Given the description of an element on the screen output the (x, y) to click on. 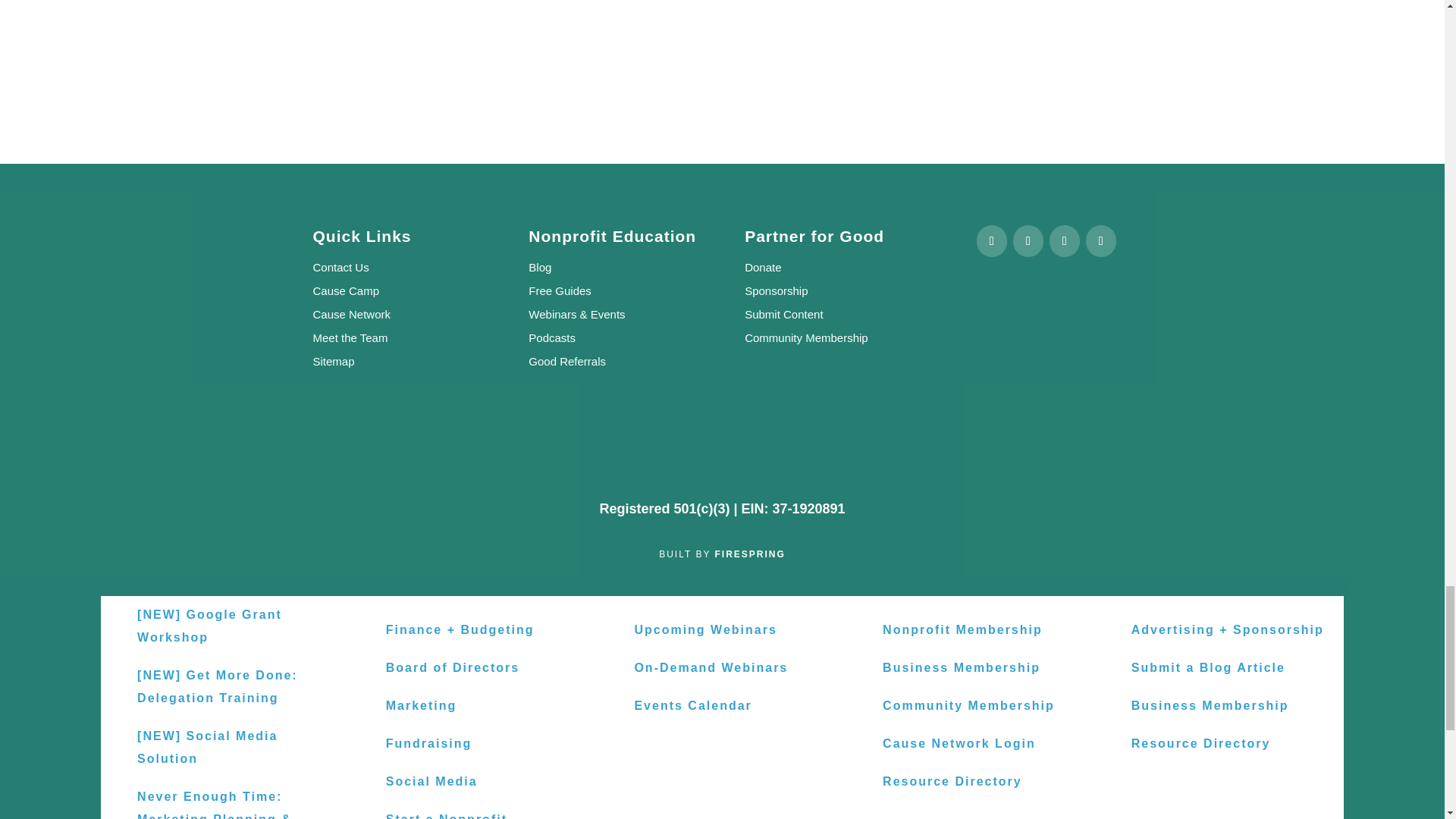
Meet the Team (350, 337)
Follow on X (1028, 241)
Follow on LinkedIn (1064, 241)
Contact Us (340, 267)
Follow on Facebook (991, 241)
Cause Network (351, 314)
Follow on Youtube (1101, 241)
Cause Camp (345, 290)
